Given the description of an element on the screen output the (x, y) to click on. 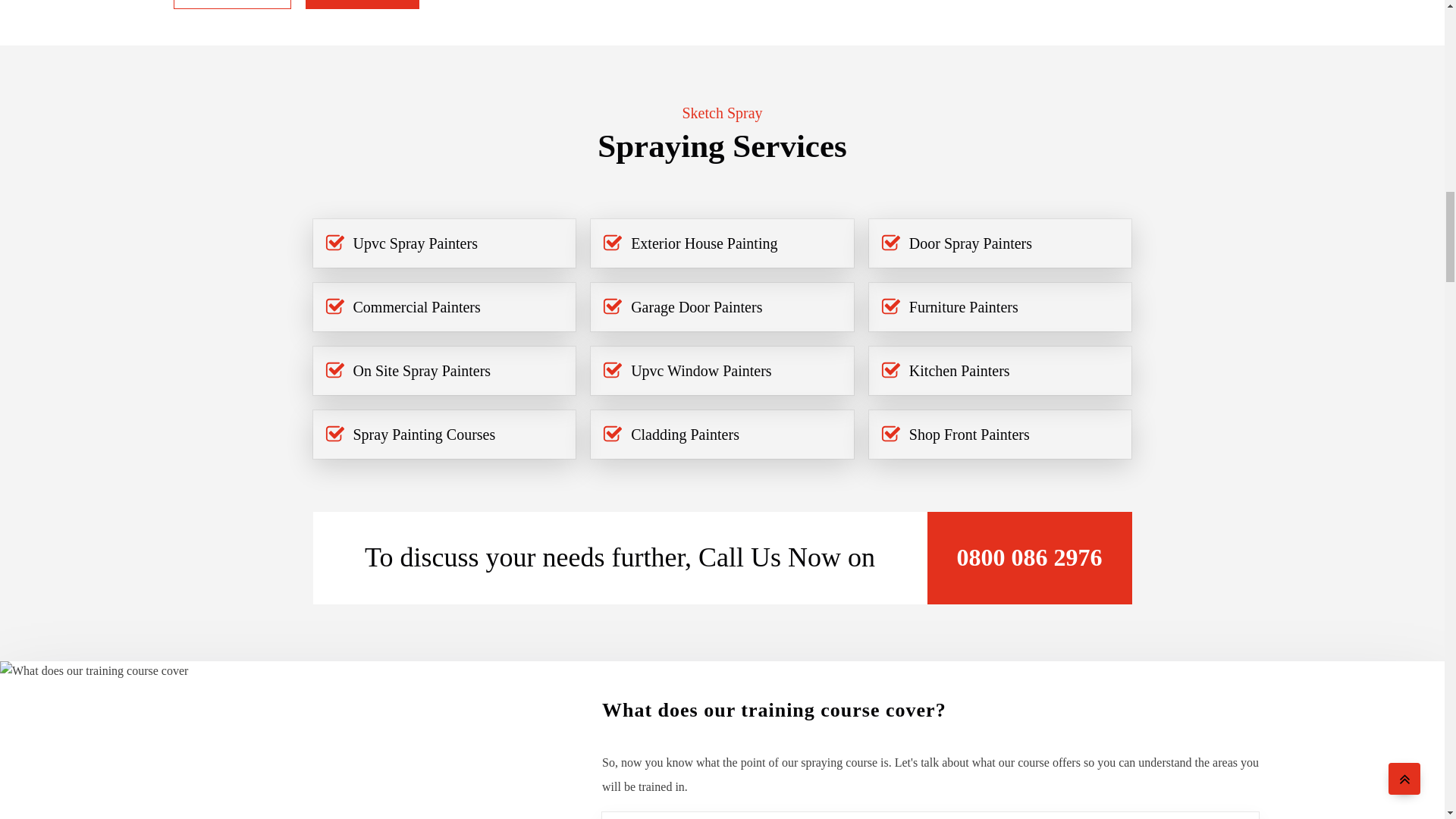
On Site Spray Painters (422, 370)
Spray Painting Courses (424, 434)
Upvc Window Painters (700, 370)
Door Painters (362, 4)
Spray Painters (232, 4)
Upvc Spray Painters (415, 242)
Furniture Painters (962, 306)
Door Spray Painters (970, 242)
Kitchen Painters (959, 370)
Exterior House Painting (703, 242)
Garage Door Painters (695, 306)
Commercial Painters (416, 306)
